Given the description of an element on the screen output the (x, y) to click on. 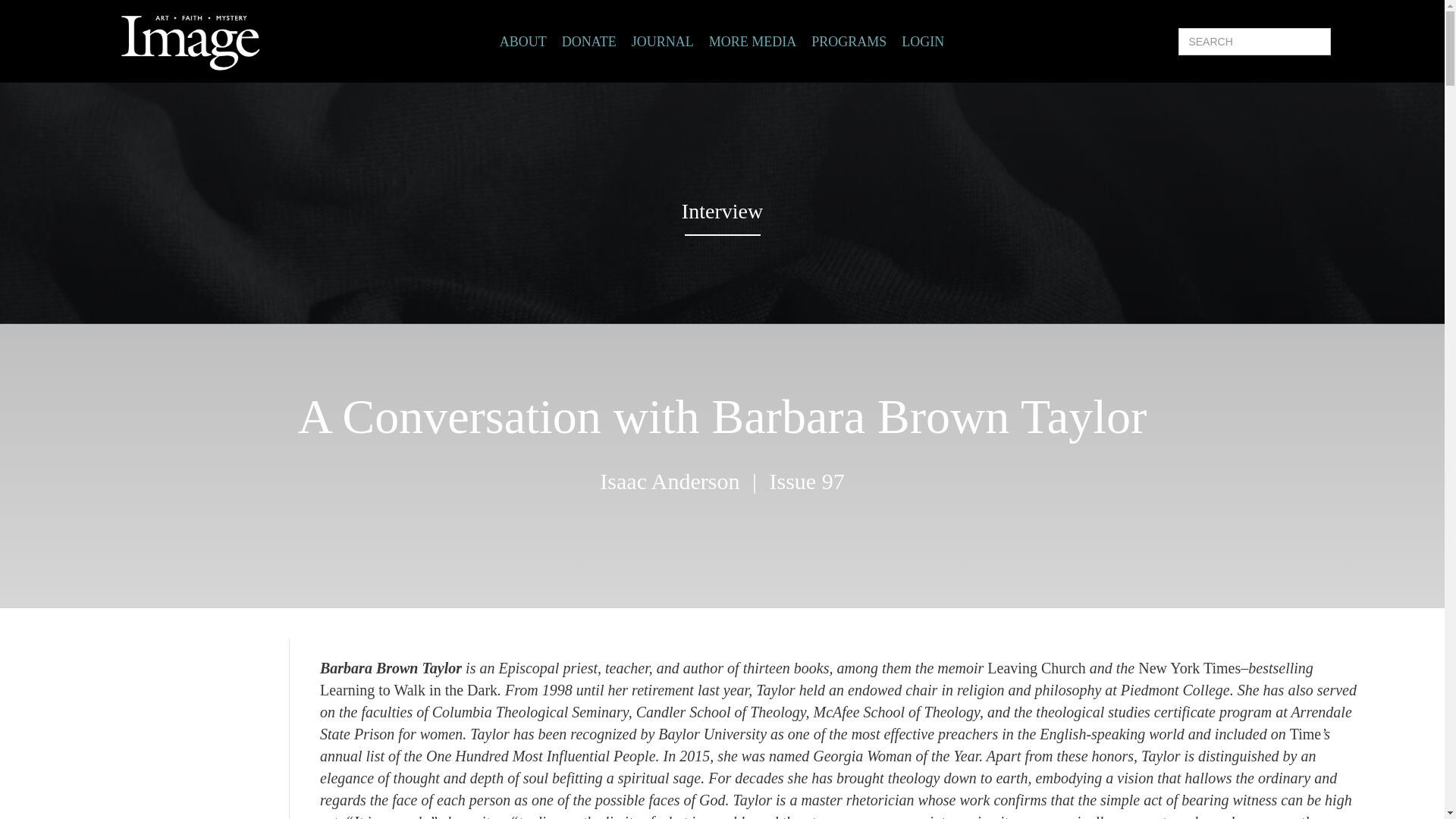
DONATE (588, 41)
JOURNAL (662, 41)
MORE MEDIA (752, 41)
ABOUT (523, 41)
